Given the description of an element on the screen output the (x, y) to click on. 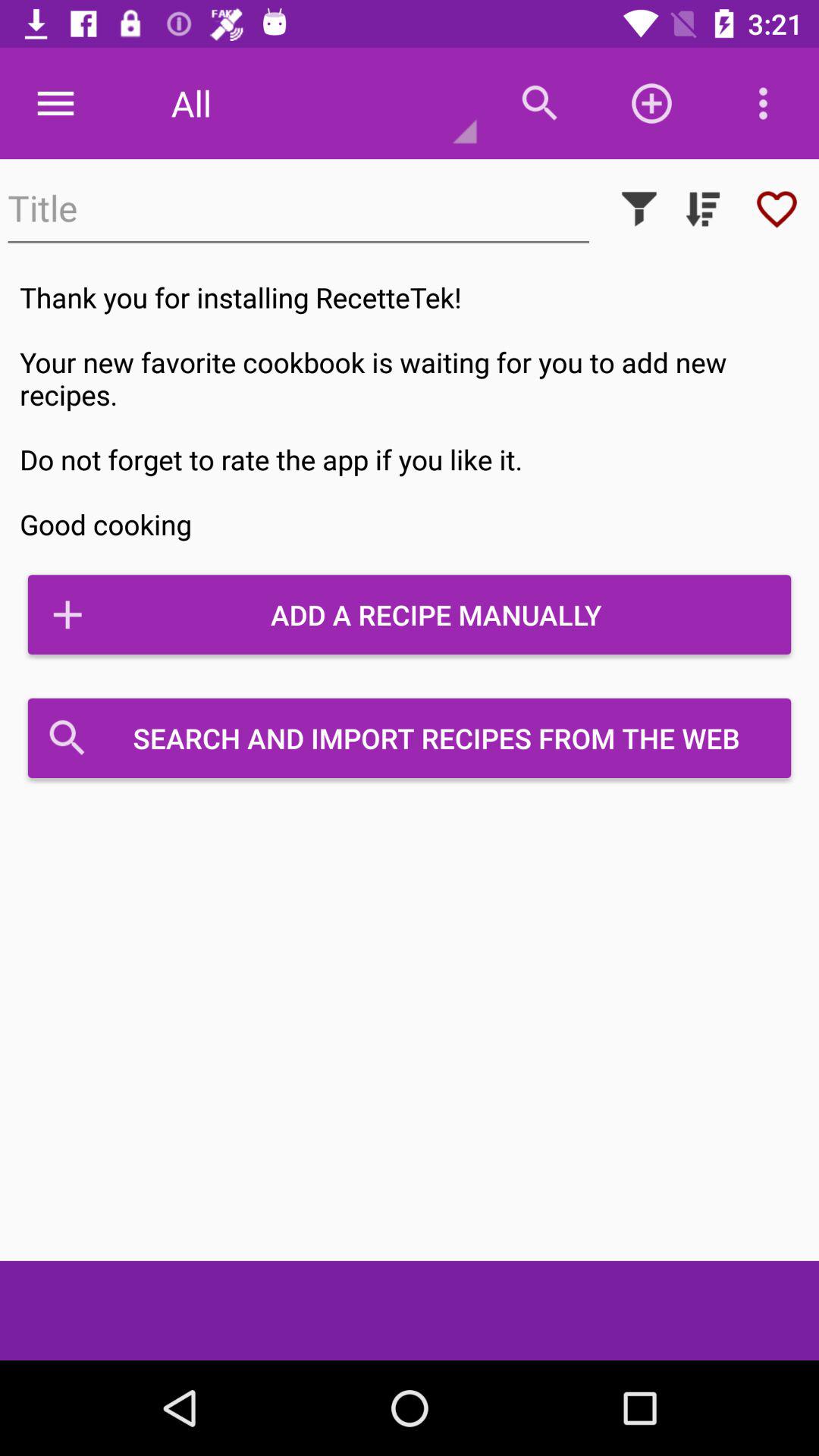
drop down list (702, 208)
